Given the description of an element on the screen output the (x, y) to click on. 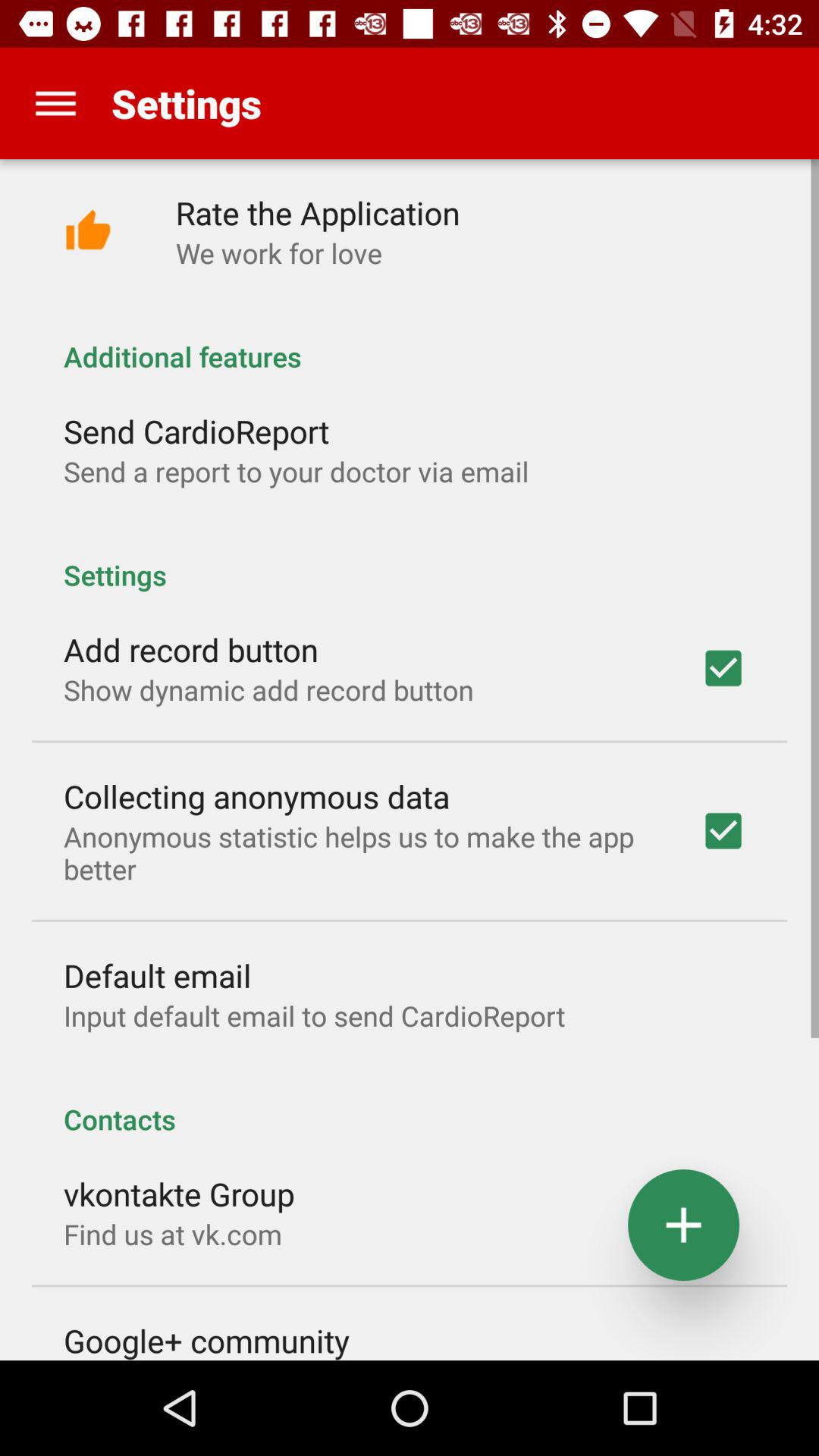
swipe until google+ community app (206, 1339)
